Given the description of an element on the screen output the (x, y) to click on. 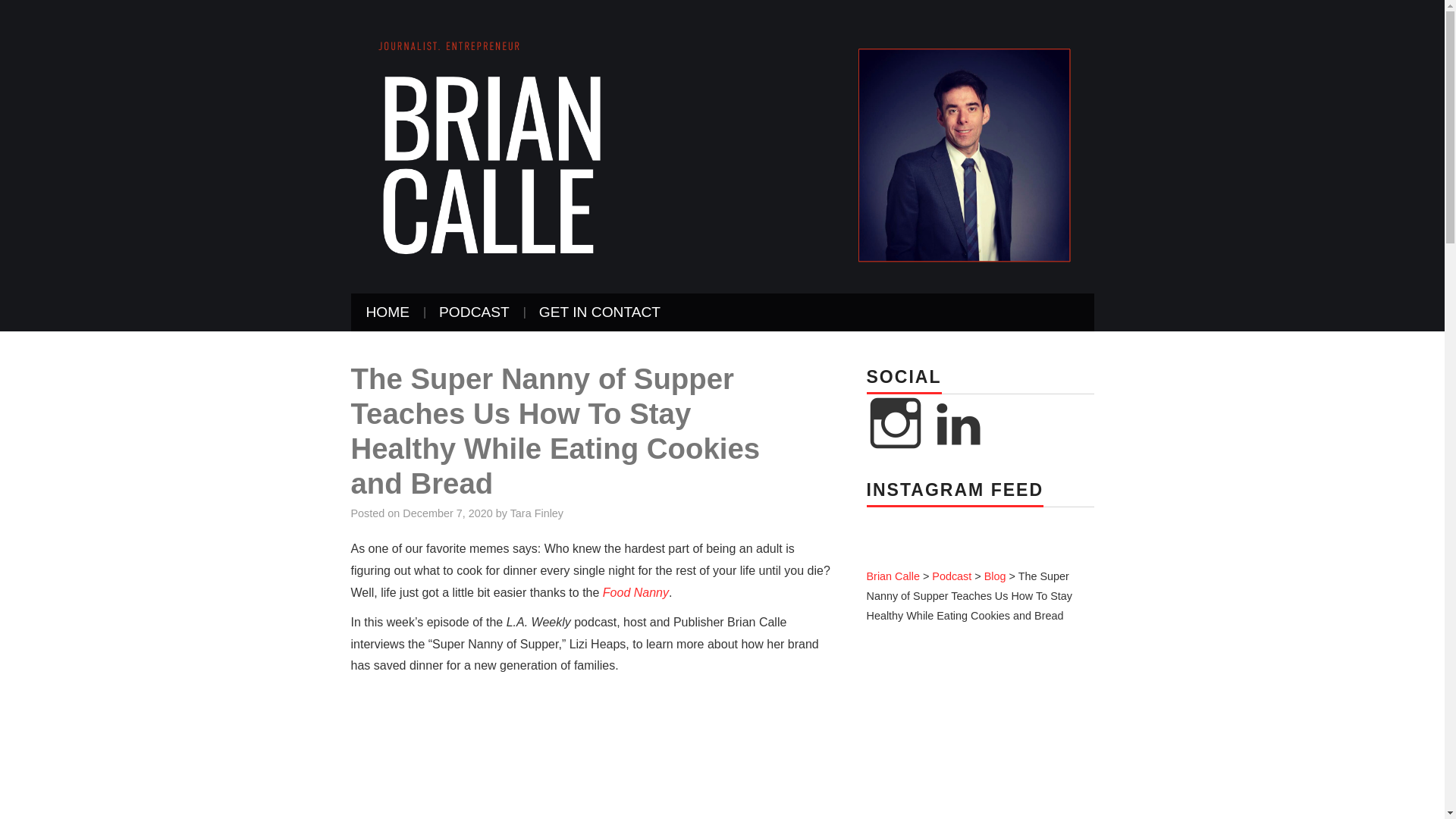
Podcast (951, 576)
PODCAST (473, 312)
Food Nanny (633, 592)
Blog (995, 576)
Go to Brian Calle. (892, 576)
December 7, 2020 (447, 512)
Go to the Blog Category archives. (995, 576)
HOME (387, 312)
Brian Calle (721, 145)
6:02 pm (447, 512)
Tara Finley (537, 512)
Brian Calle (892, 576)
Go to Podcast. (951, 576)
Spotify Embed: The Super Nanny of Supper (592, 751)
GET IN CONTACT (599, 312)
